Given the description of an element on the screen output the (x, y) to click on. 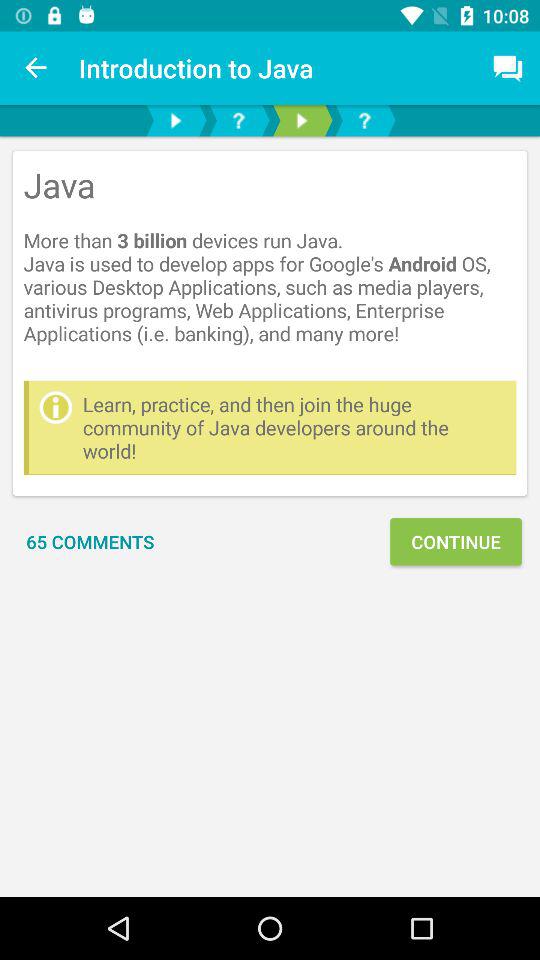
turn on continue item (455, 541)
